Given the description of an element on the screen output the (x, y) to click on. 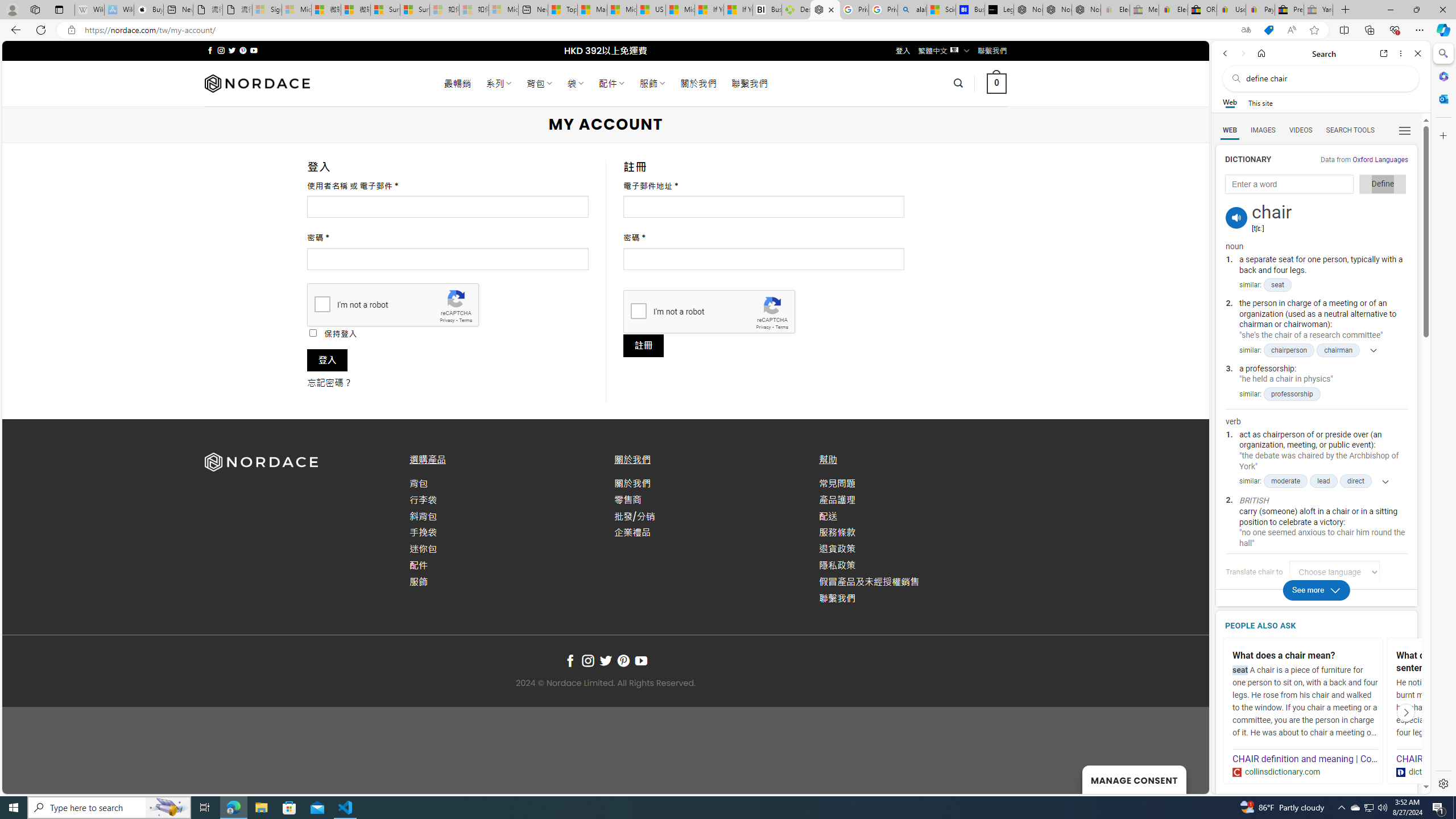
Payments Terms of Use | eBay.com (1259, 9)
Follow on Pinterest (622, 660)
alabama high school quarterback dies - Search (911, 9)
